Given the description of an element on the screen output the (x, y) to click on. 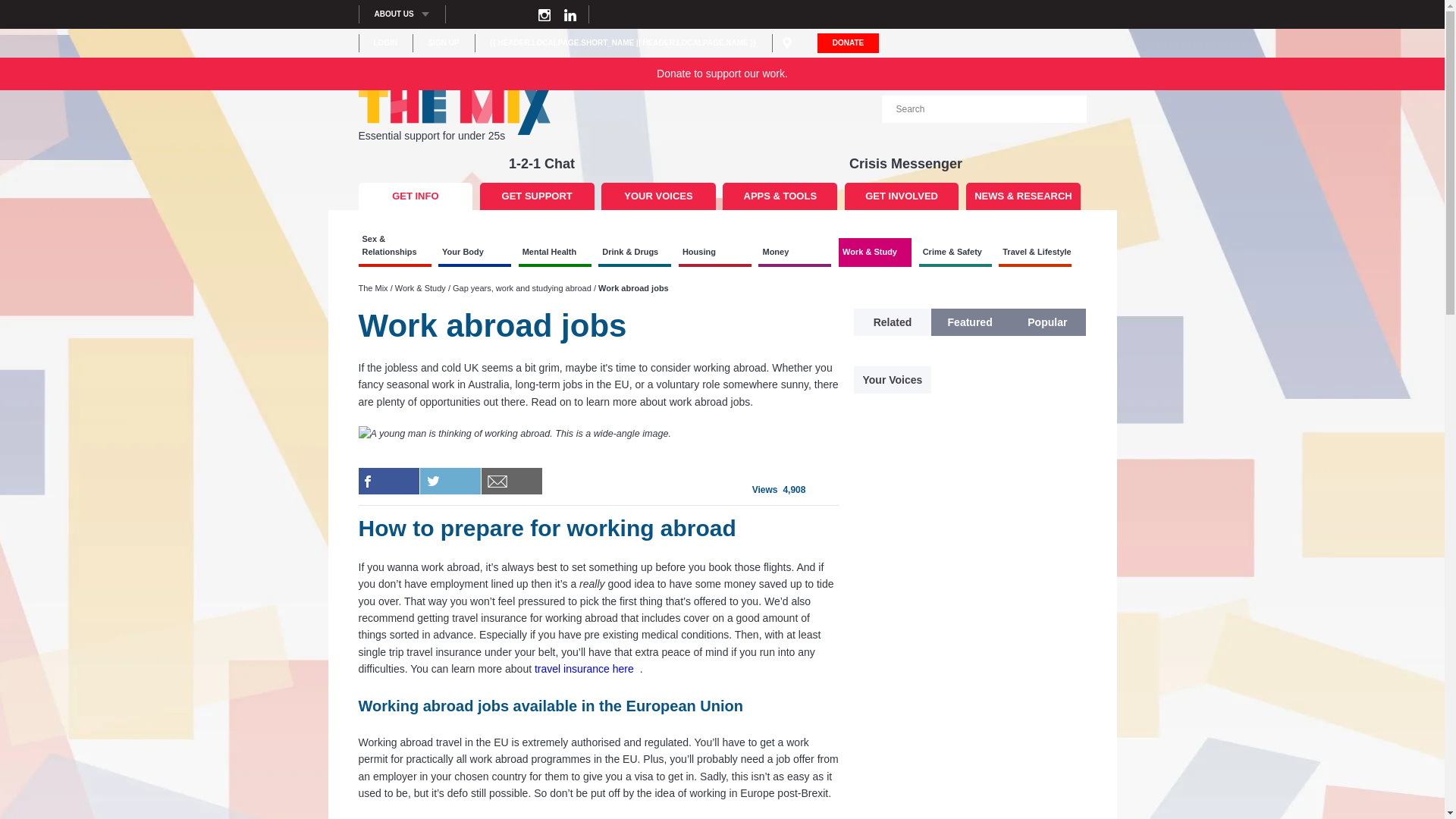
GET INFO (414, 195)
Donate to support our work. (721, 73)
Housing (714, 252)
Crisis Messenger (905, 163)
ABOUT US (401, 13)
DONATE (847, 43)
LOGIN (385, 42)
Money (794, 252)
SIGN UP (443, 42)
Your Body (474, 252)
